Given the description of an element on the screen output the (x, y) to click on. 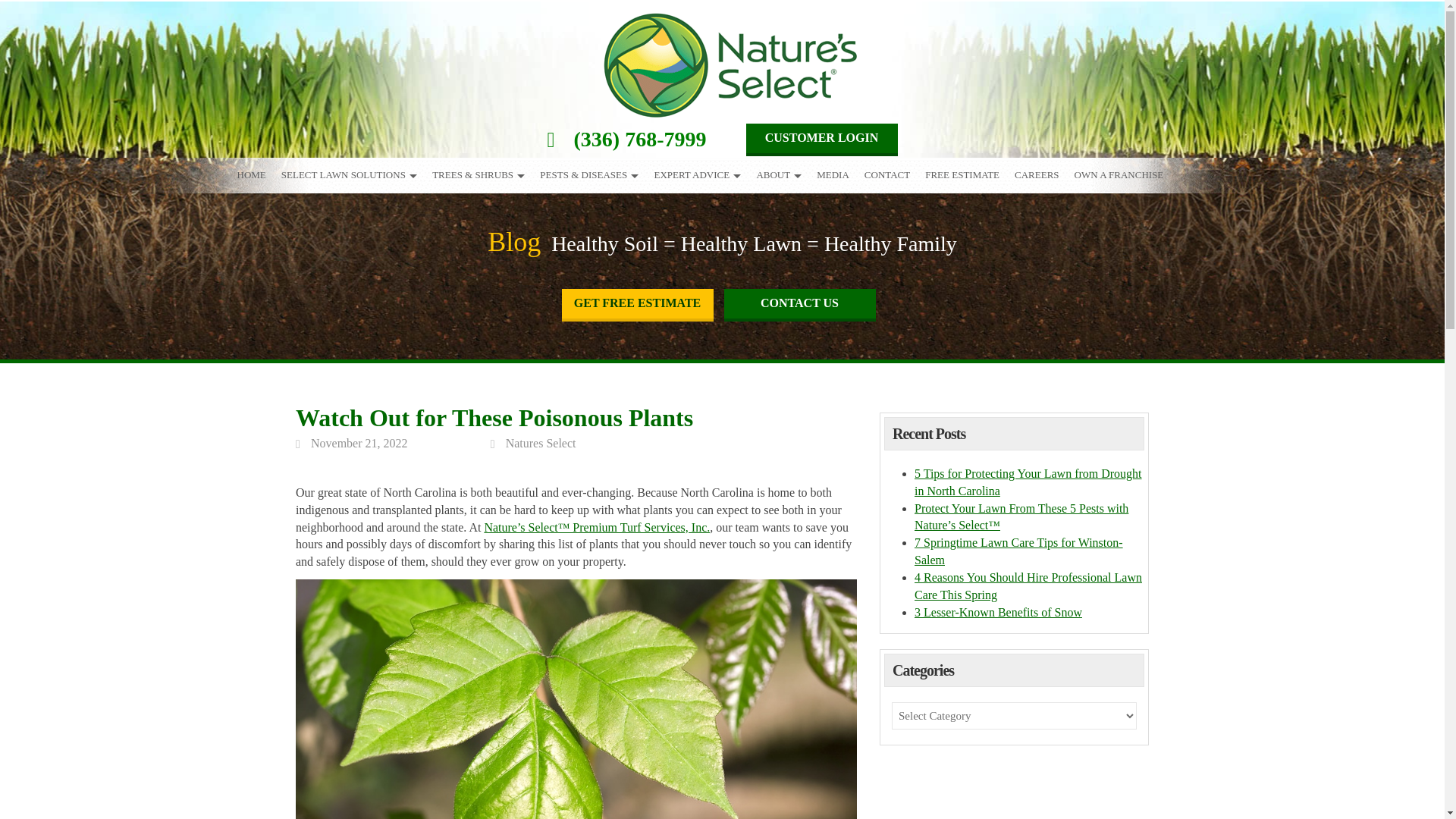
GET FREE ESTIMATE (636, 305)
HOME (250, 173)
CONTACT US (799, 305)
OWN A FRANCHISE (1119, 173)
CUSTOMER LOGIN (821, 139)
ABOUT (778, 173)
FREE ESTIMATE (962, 173)
EXPERT ADVICE (697, 173)
View all posts by Natures Select (540, 442)
CONTACT (887, 173)
Permalink to Watch Out for These Poisonous Plants (359, 442)
CAREERS (1037, 173)
MEDIA (833, 173)
SELECT LAWN SOLUTIONS (349, 173)
